Given the description of an element on the screen output the (x, y) to click on. 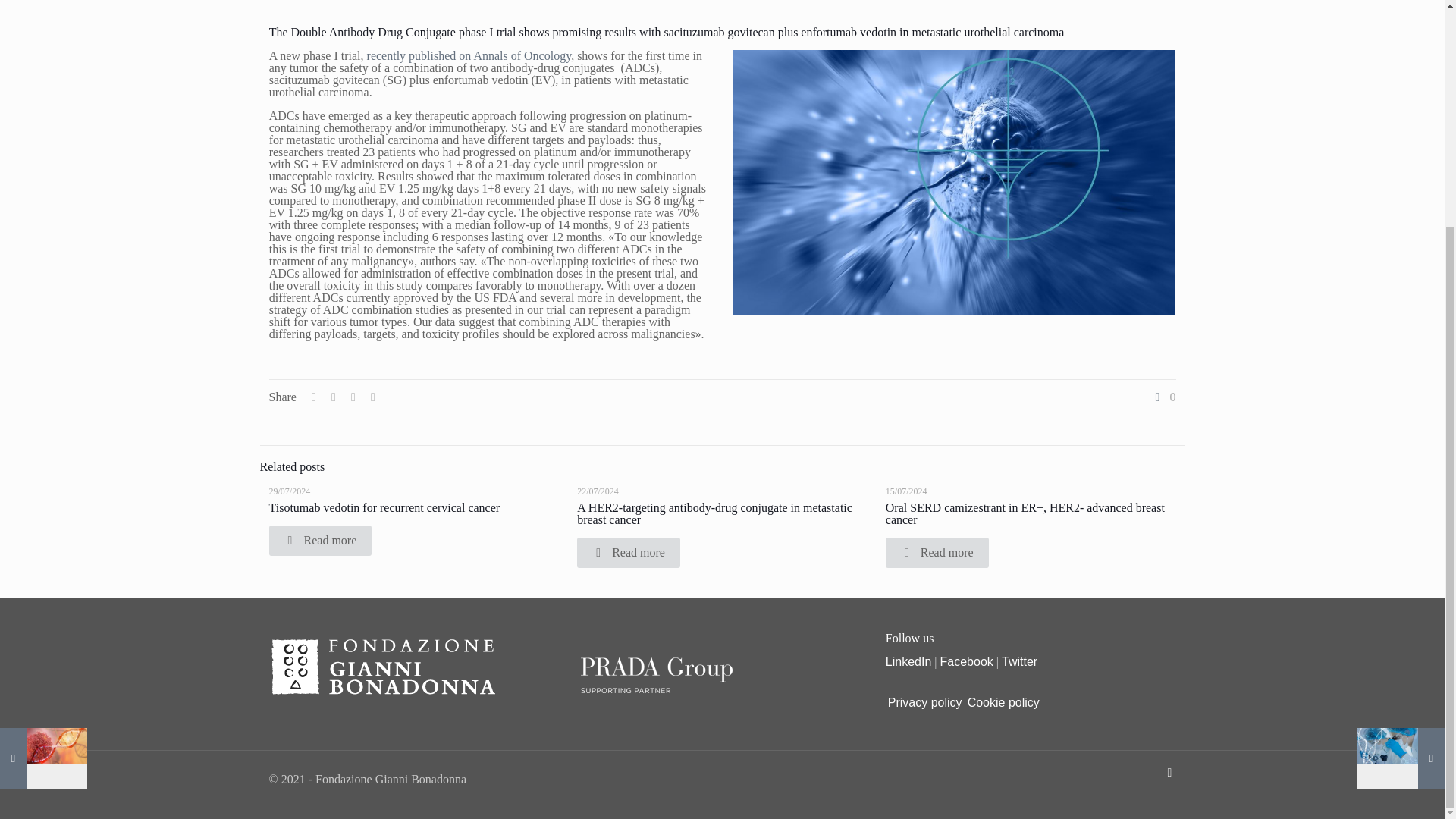
cancer cell (953, 181)
Tisotumab vedotin for recurrent cervical cancer (383, 507)
0 (1162, 397)
Read more (319, 540)
recently published on Annals of Oncology (469, 55)
